Given the description of an element on the screen output the (x, y) to click on. 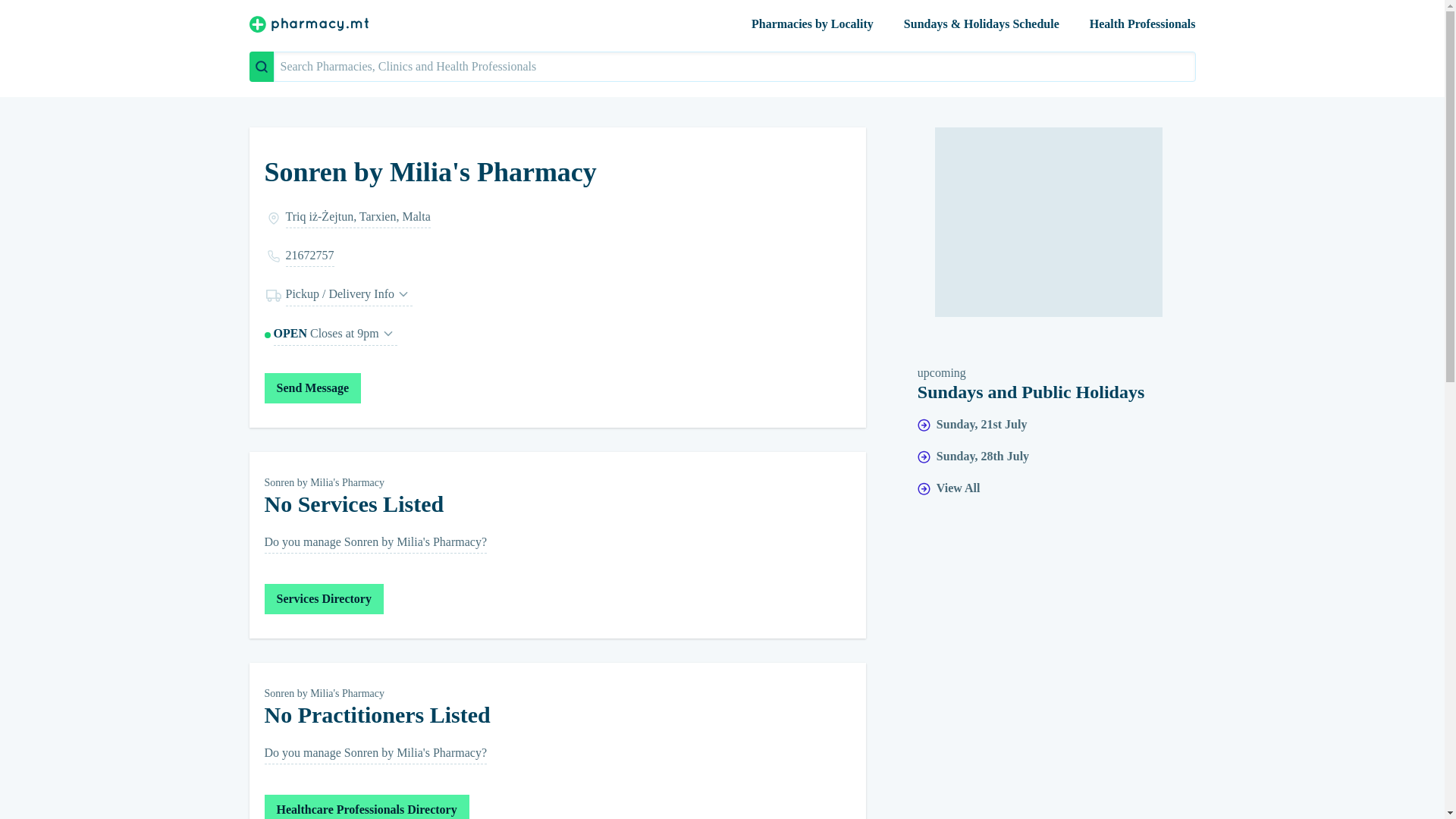
Do you manage Sonren by Milia's Pharmacy? (374, 543)
Send Message (312, 388)
Healthcare Professionals Directory (365, 806)
Do you manage Sonren by Milia's Pharmacy? (374, 753)
21672757 (556, 256)
Health Professionals (334, 334)
Services Directory (1142, 23)
Advertisement (322, 598)
Pharmacies by Locality (1047, 221)
